Given the description of an element on the screen output the (x, y) to click on. 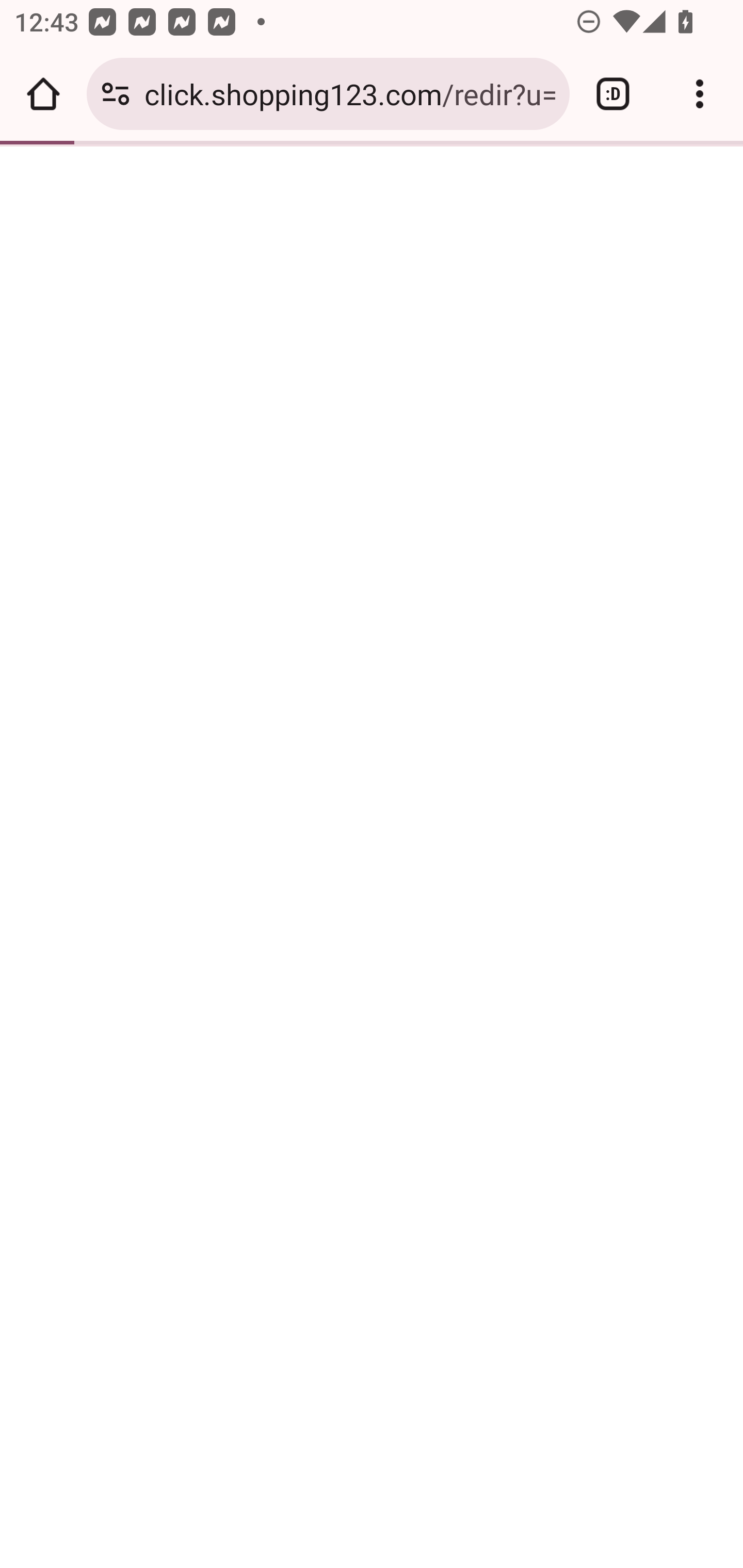
Open the home page (43, 93)
Connection is secure (115, 93)
Switch or close tabs (612, 93)
Customize and control Google Chrome (699, 93)
